Given the description of an element on the screen output the (x, y) to click on. 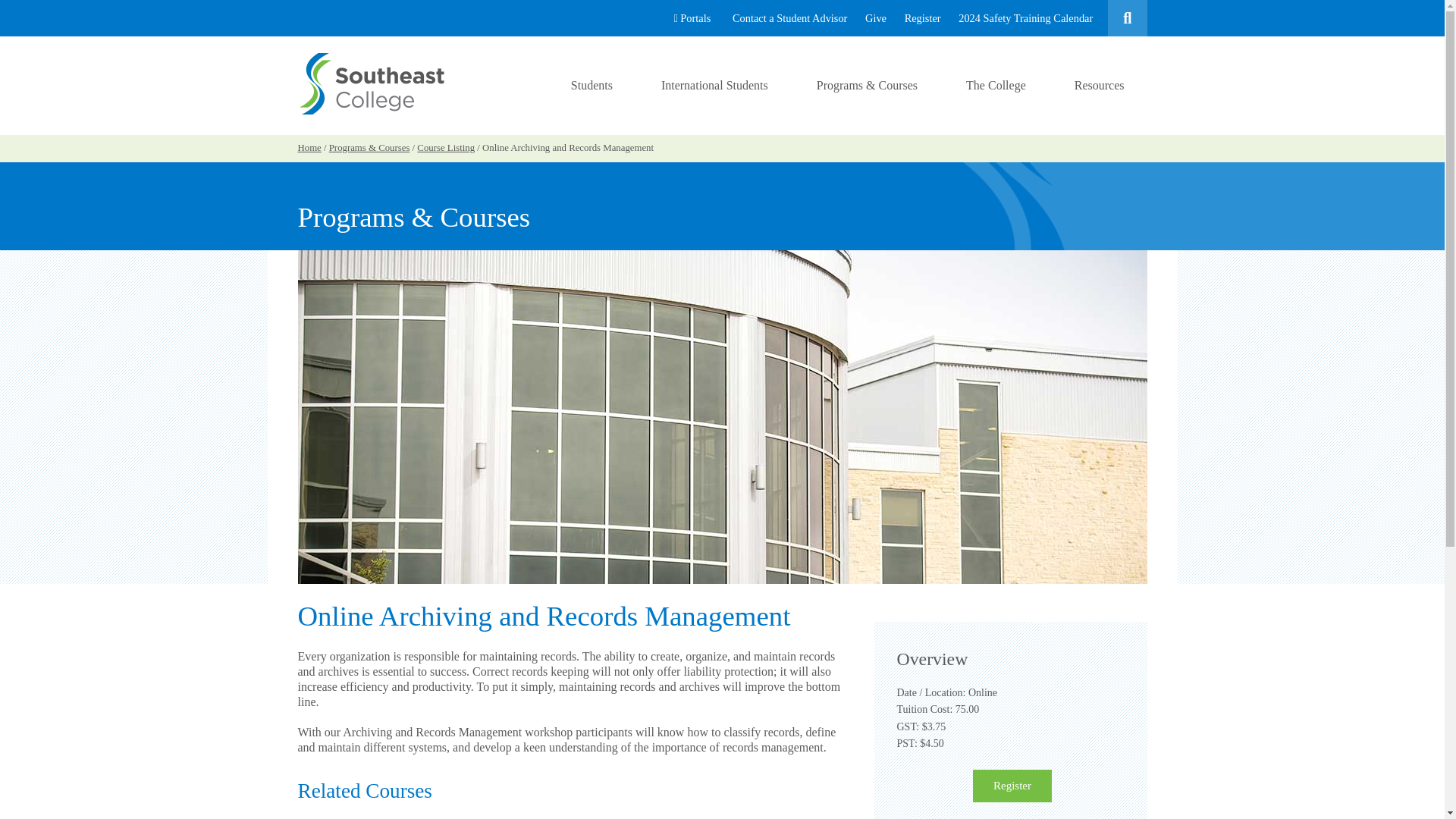
Give (875, 18)
The College (995, 85)
Register (922, 18)
Register (1011, 785)
2024 Safety Training Calendar (1025, 18)
Contact a Student Advisor (790, 18)
International Students (714, 85)
